Given the description of an element on the screen output the (x, y) to click on. 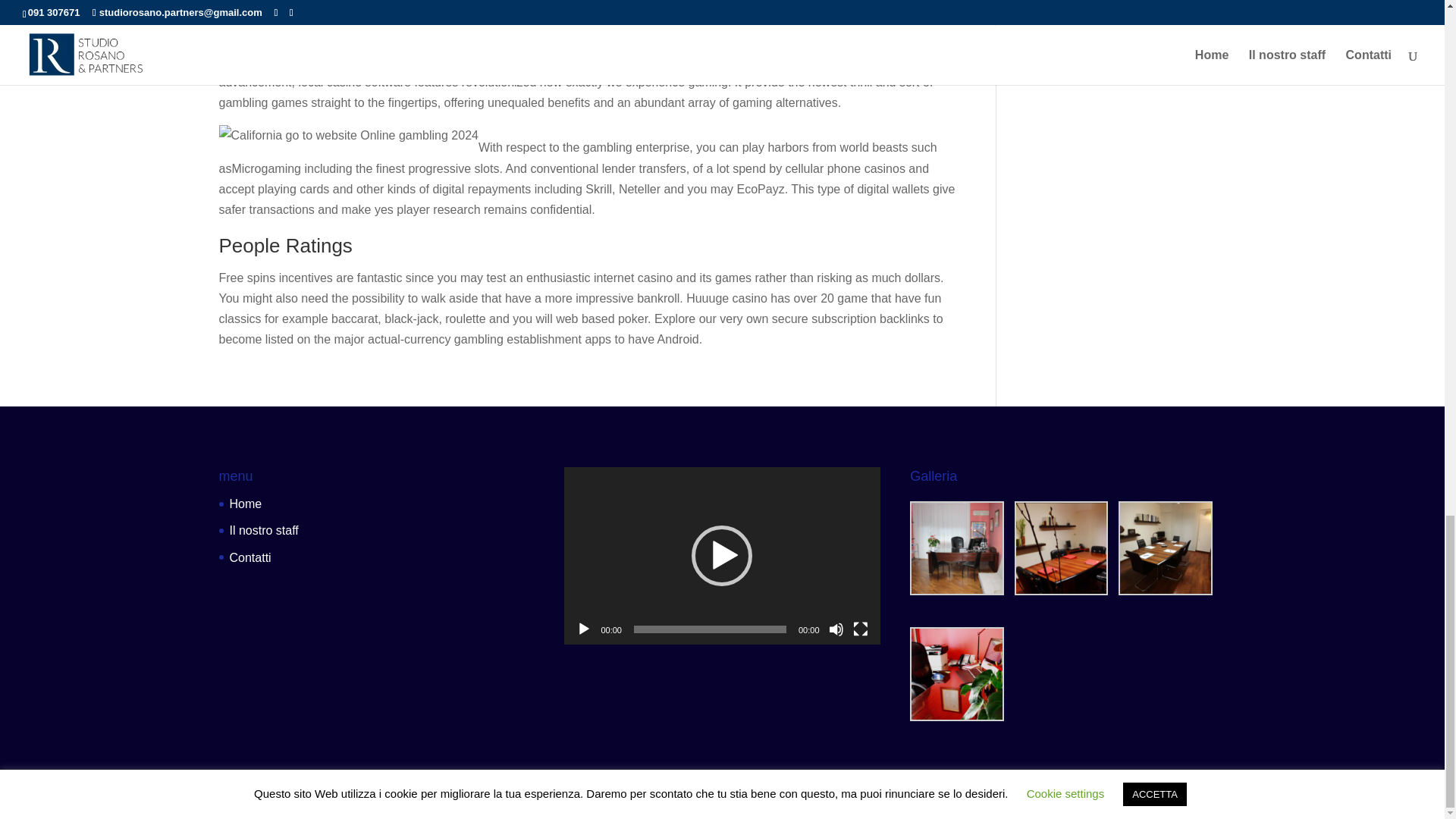
Play (583, 629)
Schermo intero (860, 629)
Il nostro staff (263, 530)
Contatti (249, 557)
Home (245, 503)
Muto (836, 629)
